Given the description of an element on the screen output the (x, y) to click on. 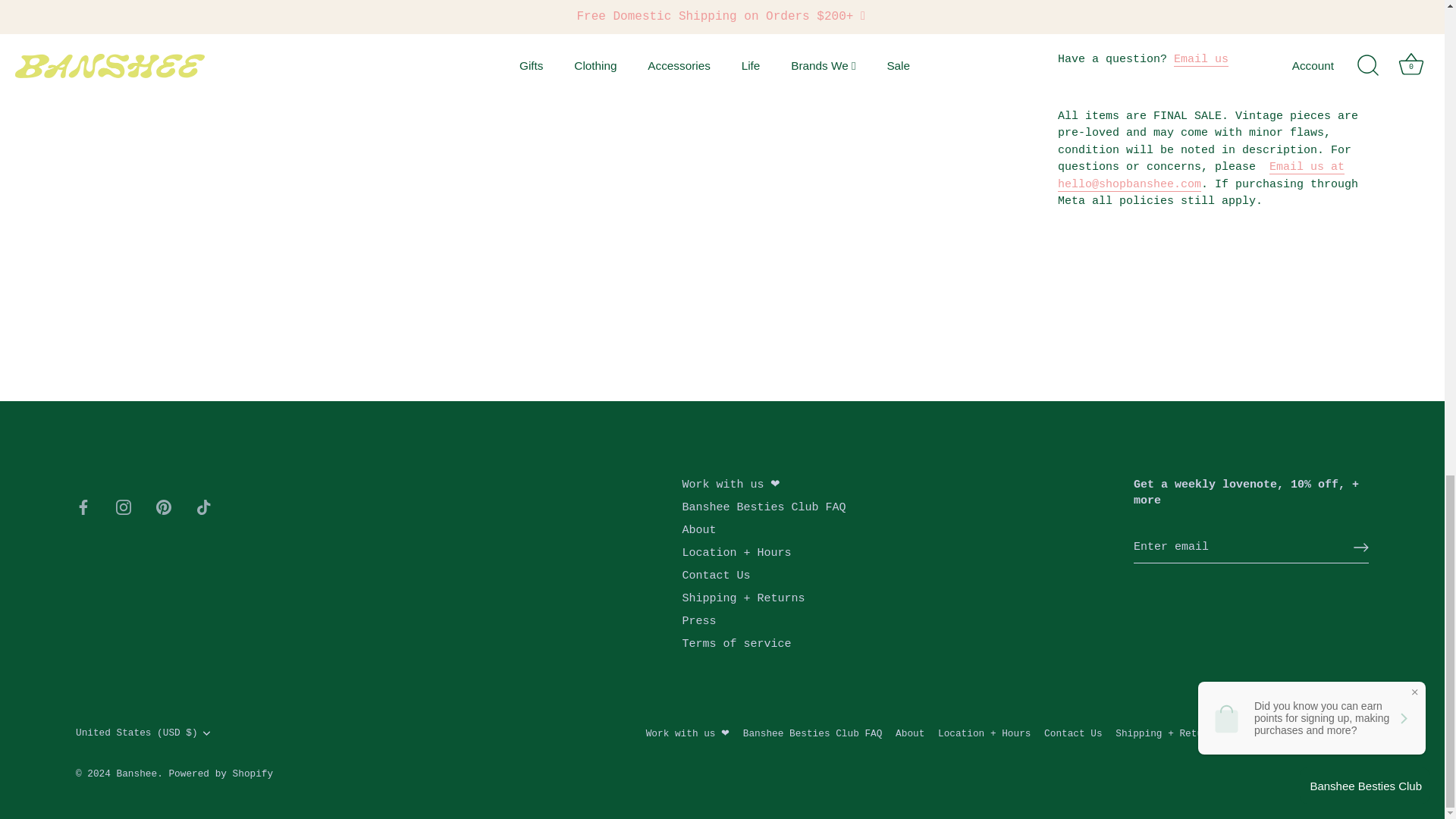
Instagram (123, 507)
RIGHT ARROW LONG (1361, 547)
Pinterest (163, 507)
